Given the description of an element on the screen output the (x, y) to click on. 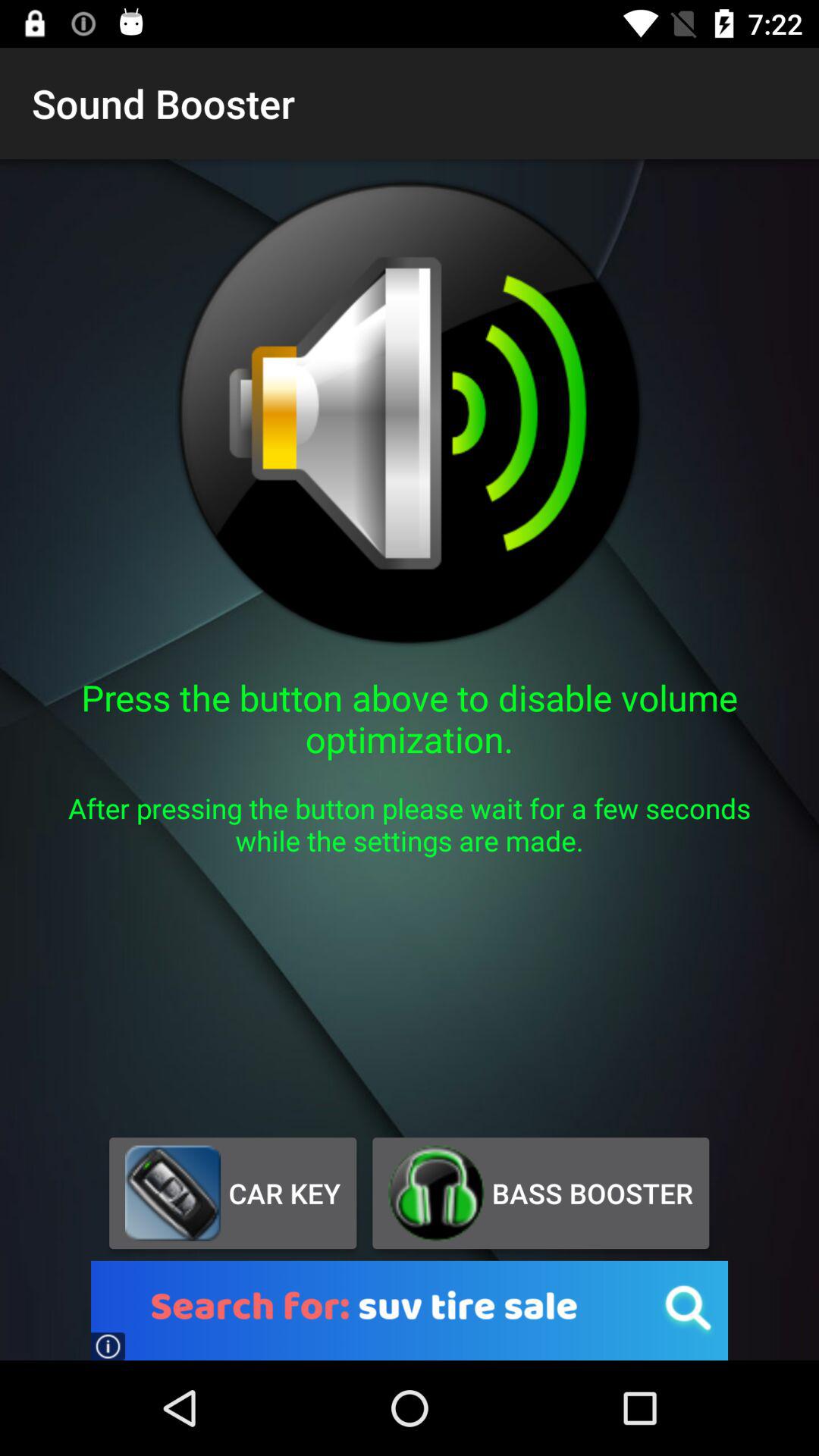
turn on the bass booster button (540, 1192)
